Given the description of an element on the screen output the (x, y) to click on. 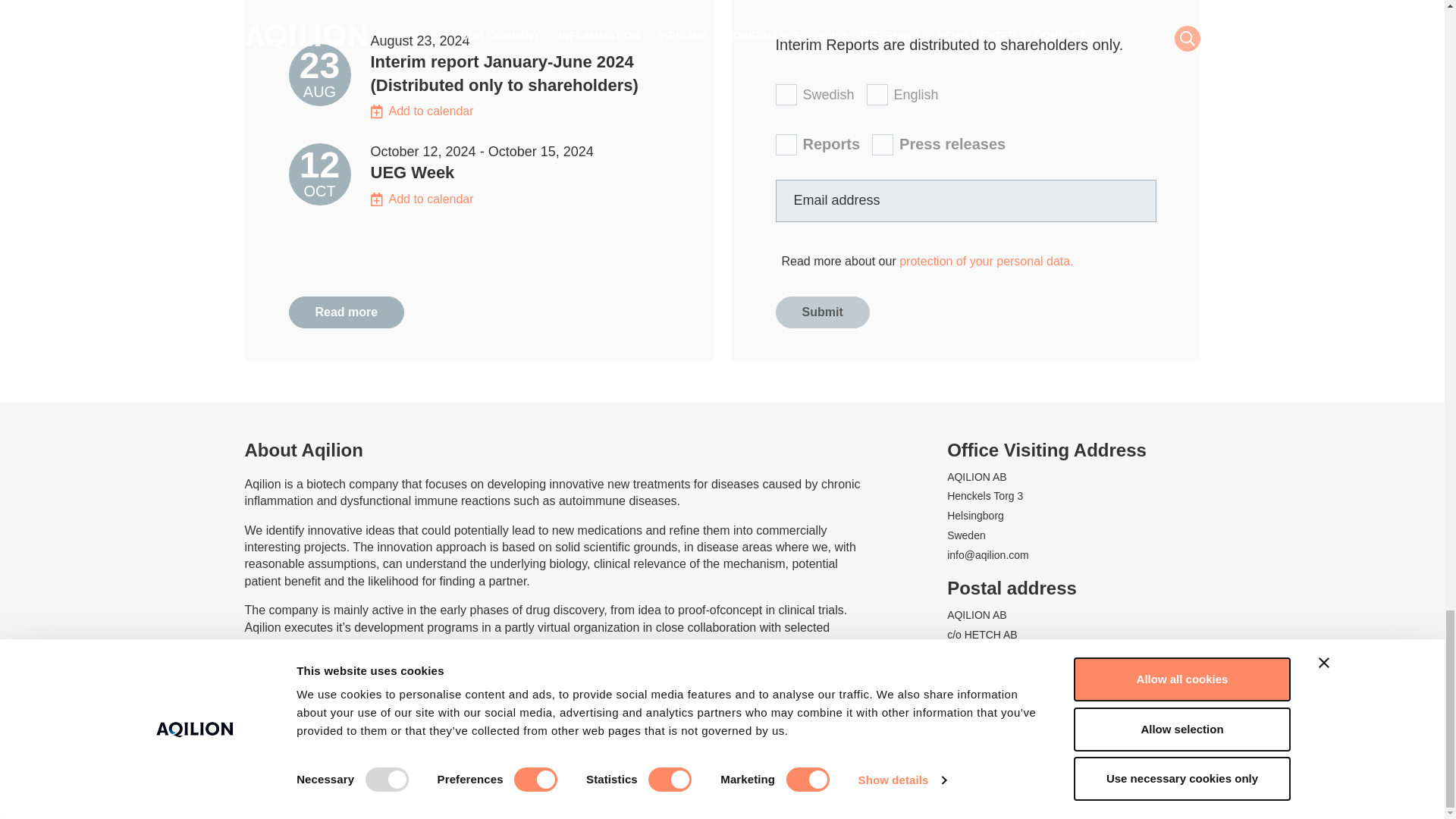
prm (882, 144)
sv (785, 94)
kmk,rpt,rdv (785, 144)
en (877, 94)
